Given the description of an element on the screen output the (x, y) to click on. 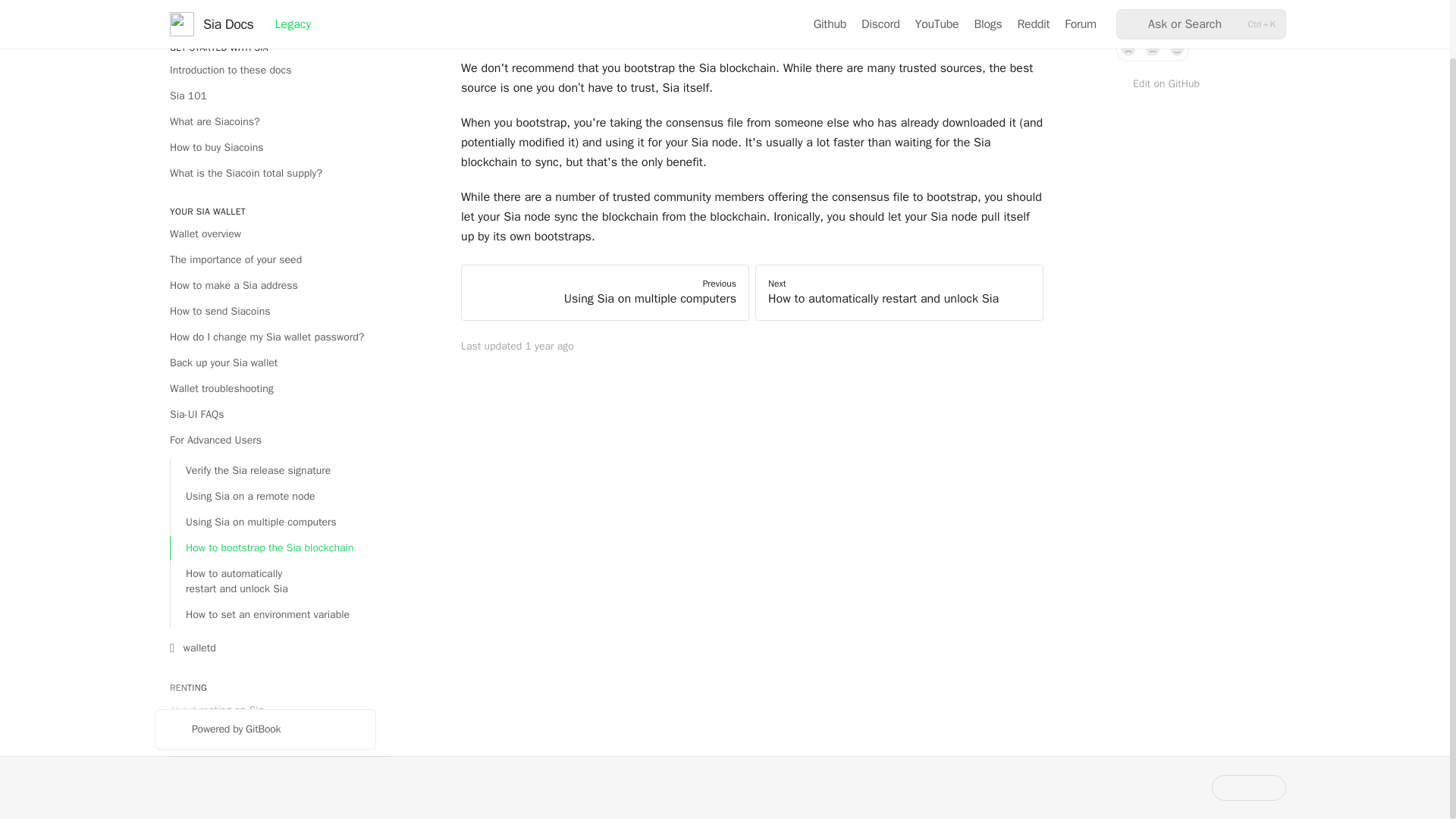
What are Siacoins? (264, 121)
How to send Siacoins (264, 311)
Wallet troubleshooting (264, 388)
How to make a Sia address (264, 285)
Sia-UI FAQs (264, 414)
Welcome to Sia! (264, 11)
Back up your Sia wallet (264, 363)
How do I change my Sia wallet password? (264, 337)
Yes, it was! (1176, 48)
How to buy Siacoins (264, 147)
